Given the description of an element on the screen output the (x, y) to click on. 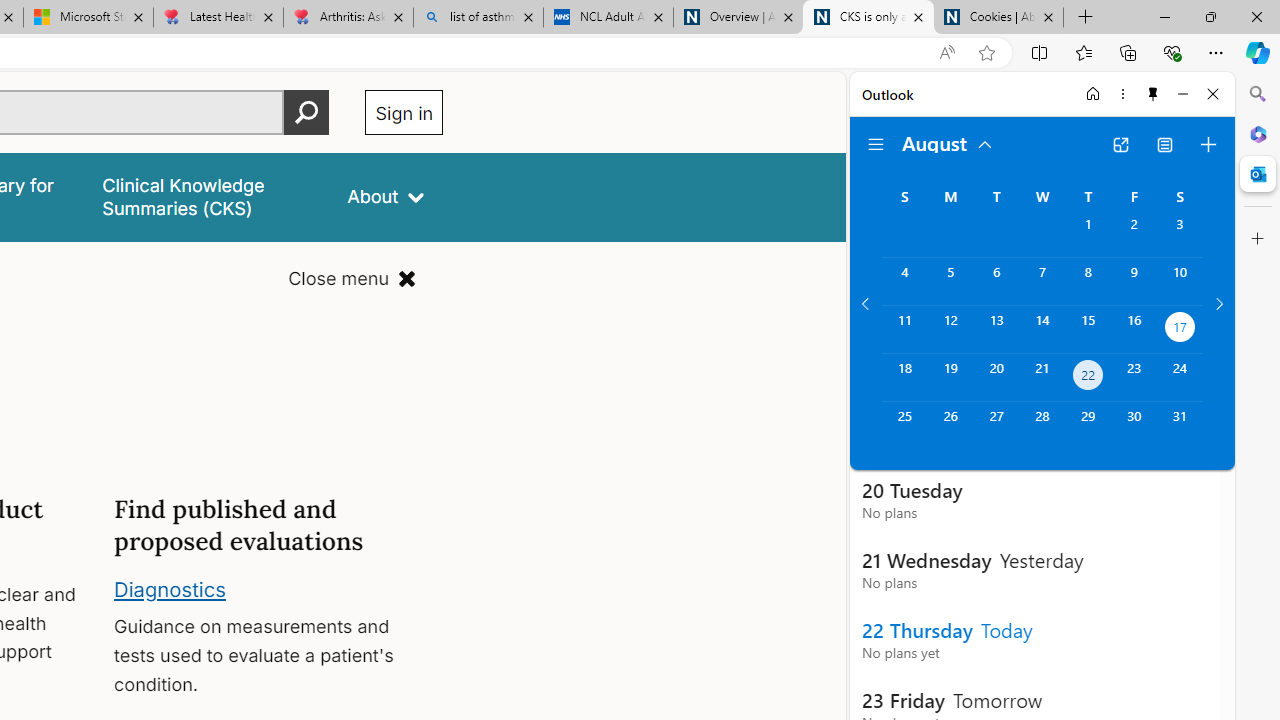
Tuesday, August 13, 2024.  (996, 329)
Monday, August 19, 2024.  (950, 377)
Tuesday, August 20, 2024.  (996, 377)
Cookies | About | NICE (998, 17)
Perform search (307, 112)
Friday, August 9, 2024.  (1134, 281)
Folder navigation (876, 144)
Saturday, August 17, 2024. Date selected.  (1180, 329)
Unpin side pane (1153, 93)
Thursday, August 8, 2024.  (1088, 281)
